Given the description of an element on the screen output the (x, y) to click on. 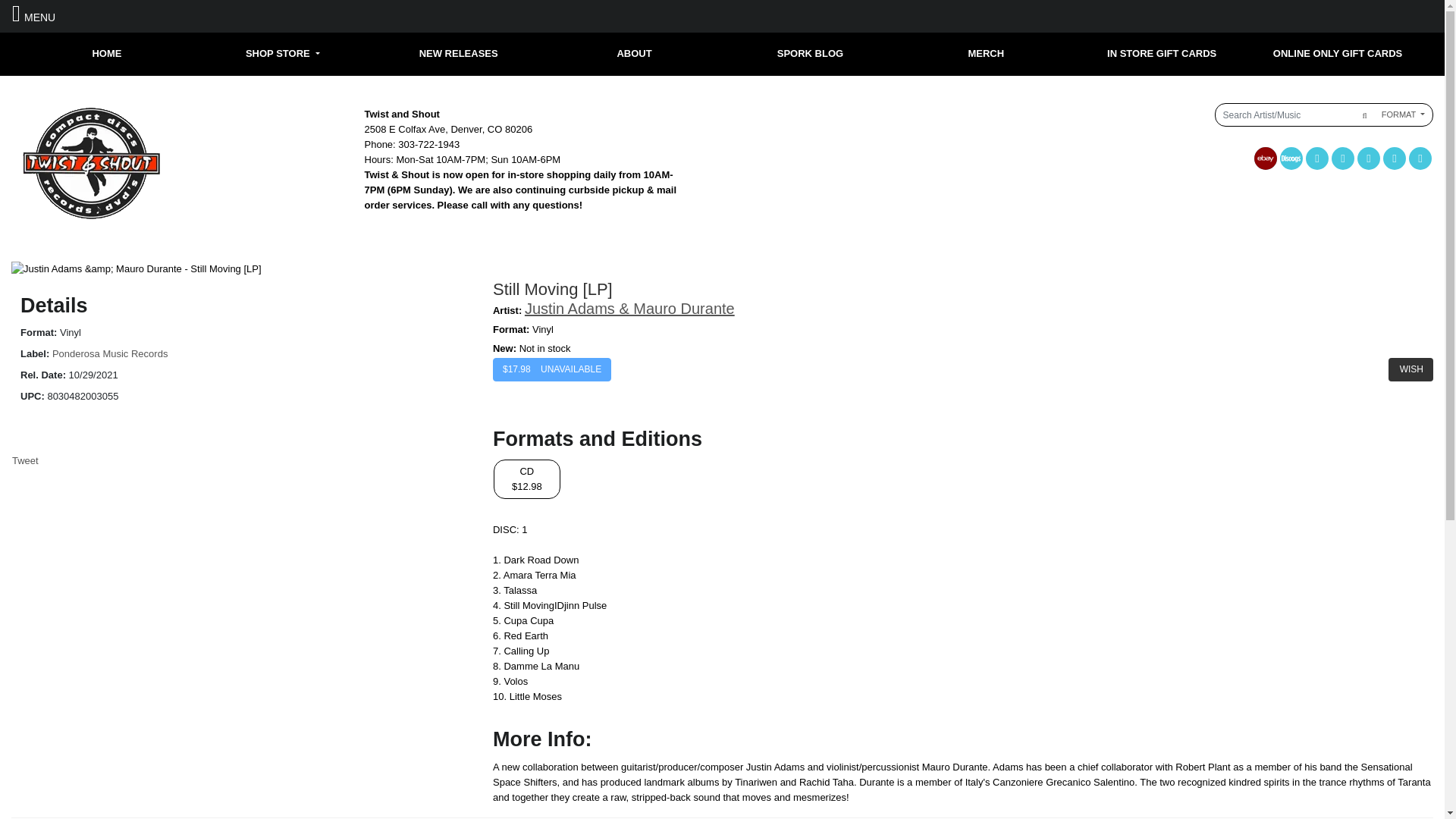
ABOUT (634, 53)
Search (1362, 115)
SPORK BLOG (810, 53)
HOME (106, 53)
IN STORE GIFT CARDS (1161, 53)
MENU (33, 15)
NEW RELEASES (459, 53)
SHOP STORE (283, 53)
ONLINE ONLY GIFT CARDS (1337, 53)
MERCH (986, 53)
